Given the description of an element on the screen output the (x, y) to click on. 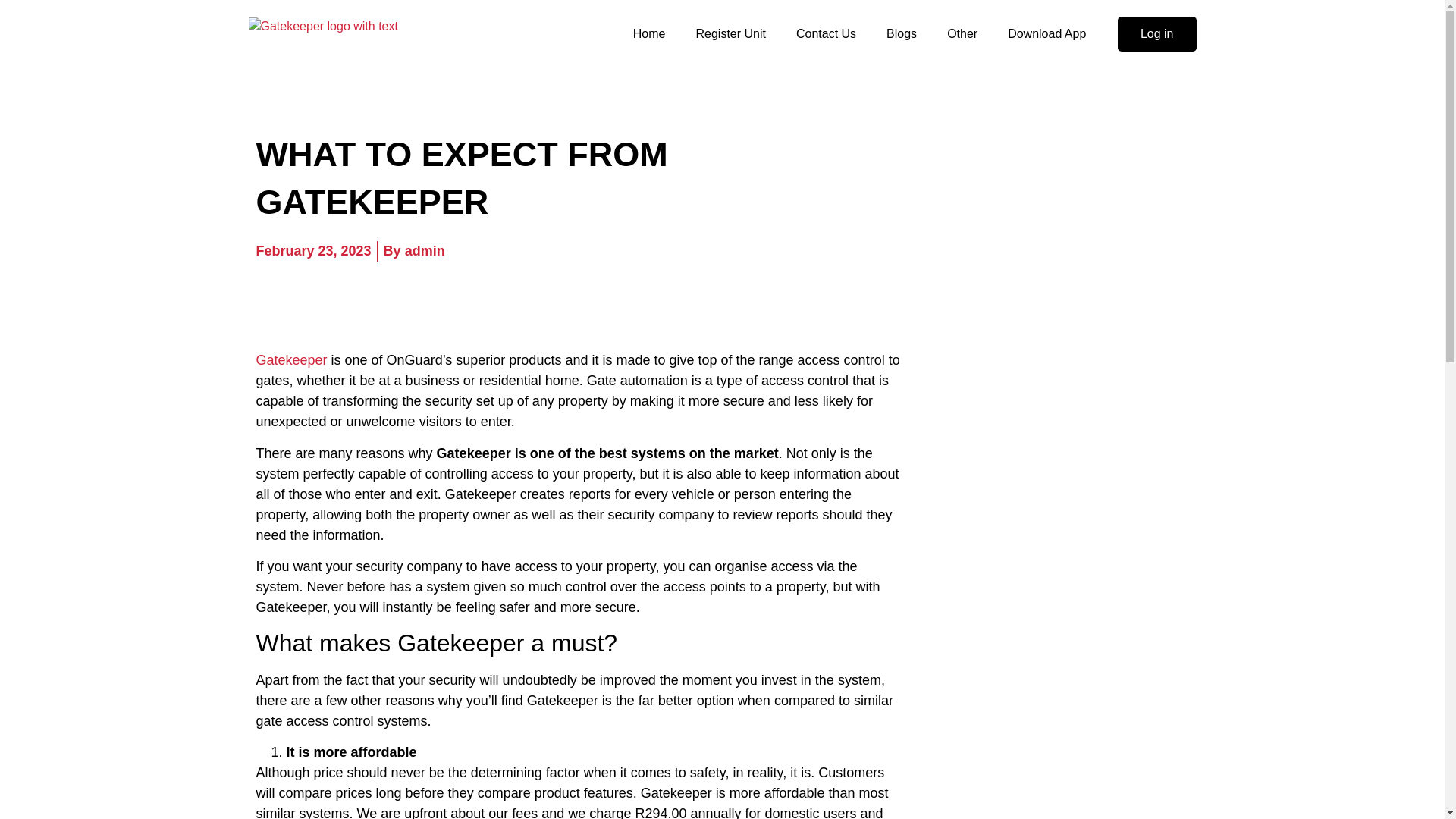
Gatekeeper (291, 370)
Home (649, 33)
Blogs (901, 33)
Register Unit (730, 33)
Log in (1157, 33)
Other (961, 33)
Contact Us (826, 33)
Download App (1046, 33)
